Given the description of an element on the screen output the (x, y) to click on. 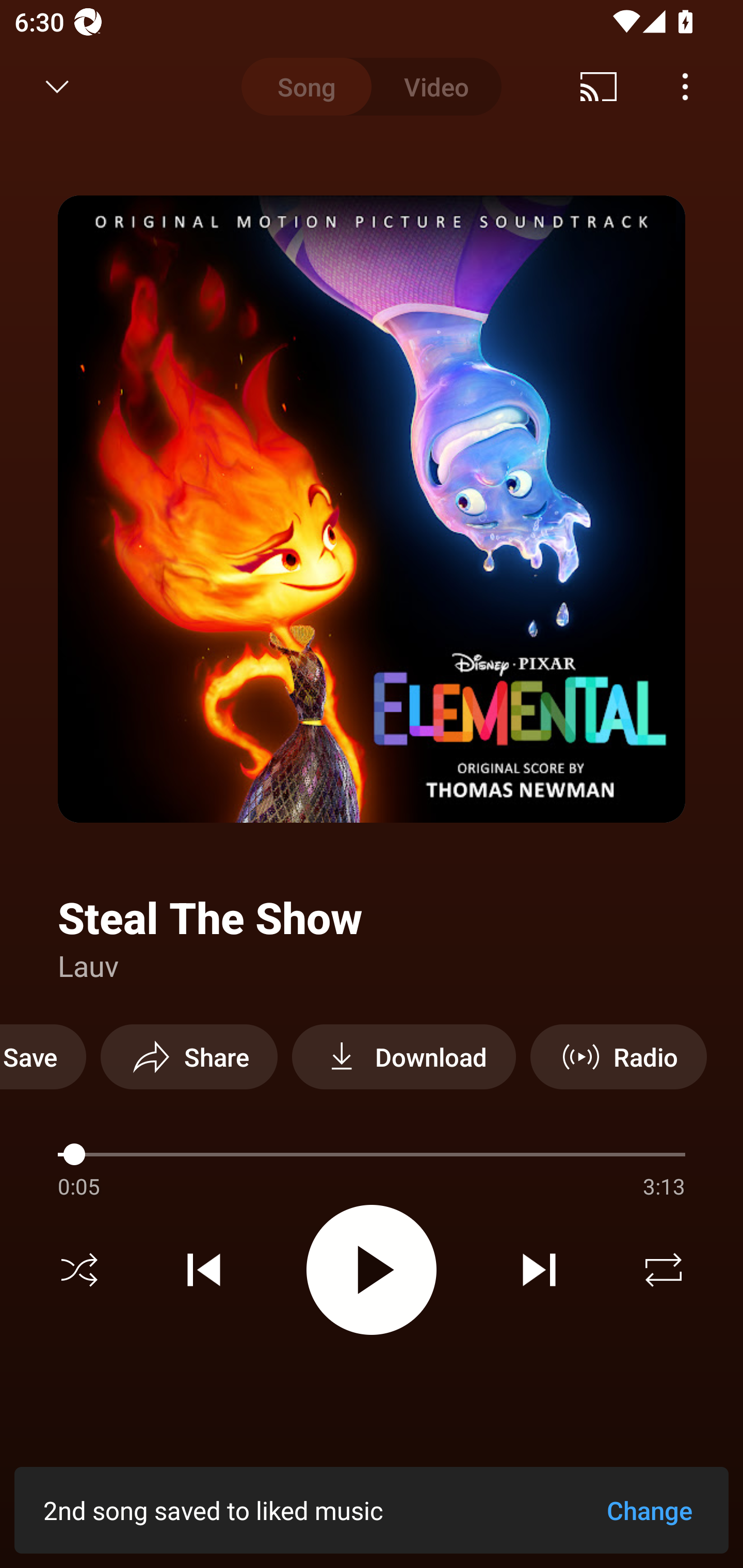
Minimize (57, 86)
Cast. Disconnected (598, 86)
Menu (684, 86)
Save Save to playlist (43, 1056)
Share (188, 1056)
Download (403, 1056)
Radio (618, 1056)
Play video (371, 1269)
Shuffle off (79, 1269)
Previous track (203, 1269)
Next track (538, 1269)
Repeat off (663, 1269)
Change (649, 1510)
